Given the description of an element on the screen output the (x, y) to click on. 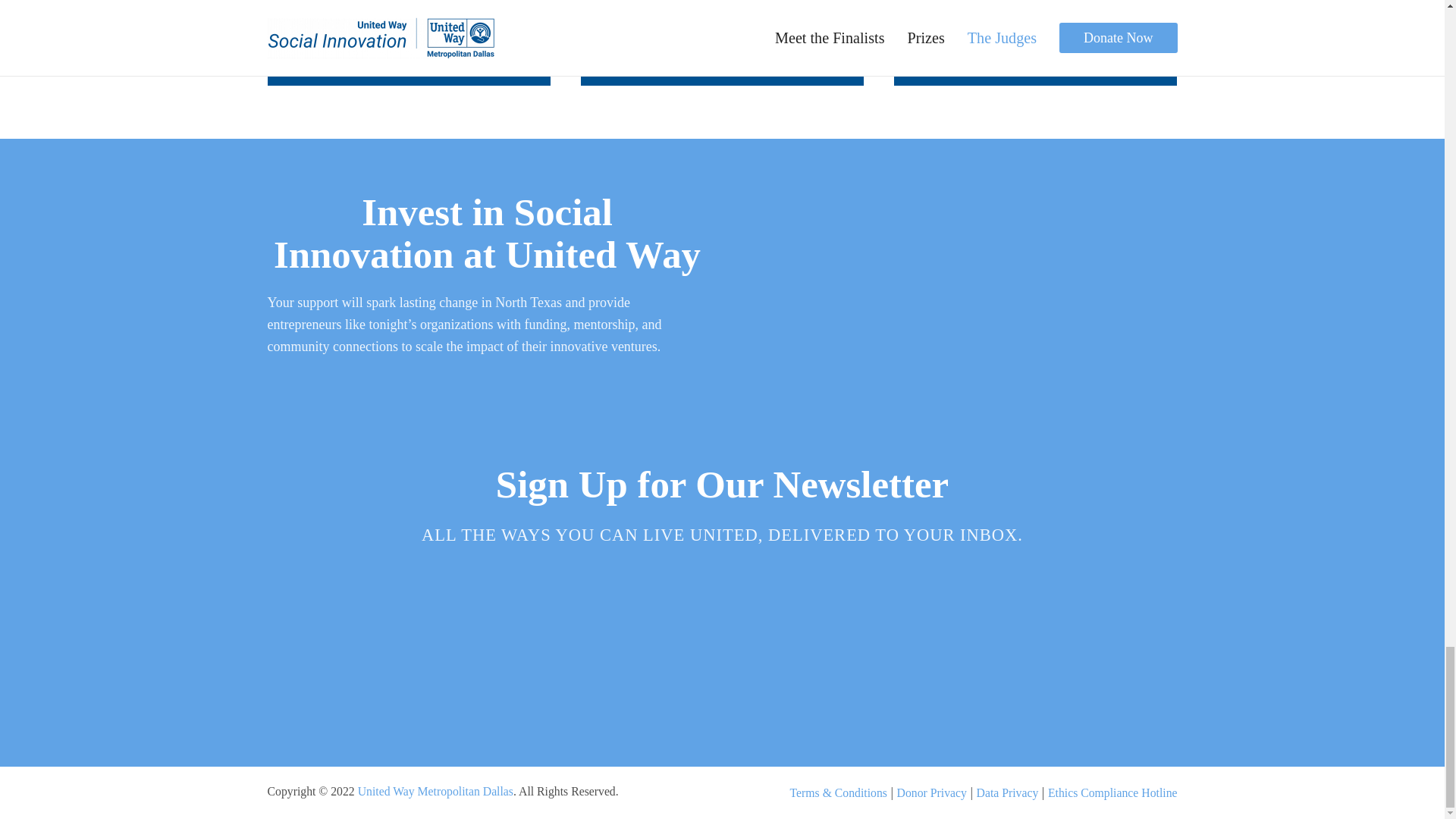
Ethics Compliance Hotline (1112, 792)
Donor Privacy (931, 792)
United Way Metropolitan Dallas (435, 790)
Data Privacy (1007, 792)
Form 0 (721, 646)
